Given the description of an element on the screen output the (x, y) to click on. 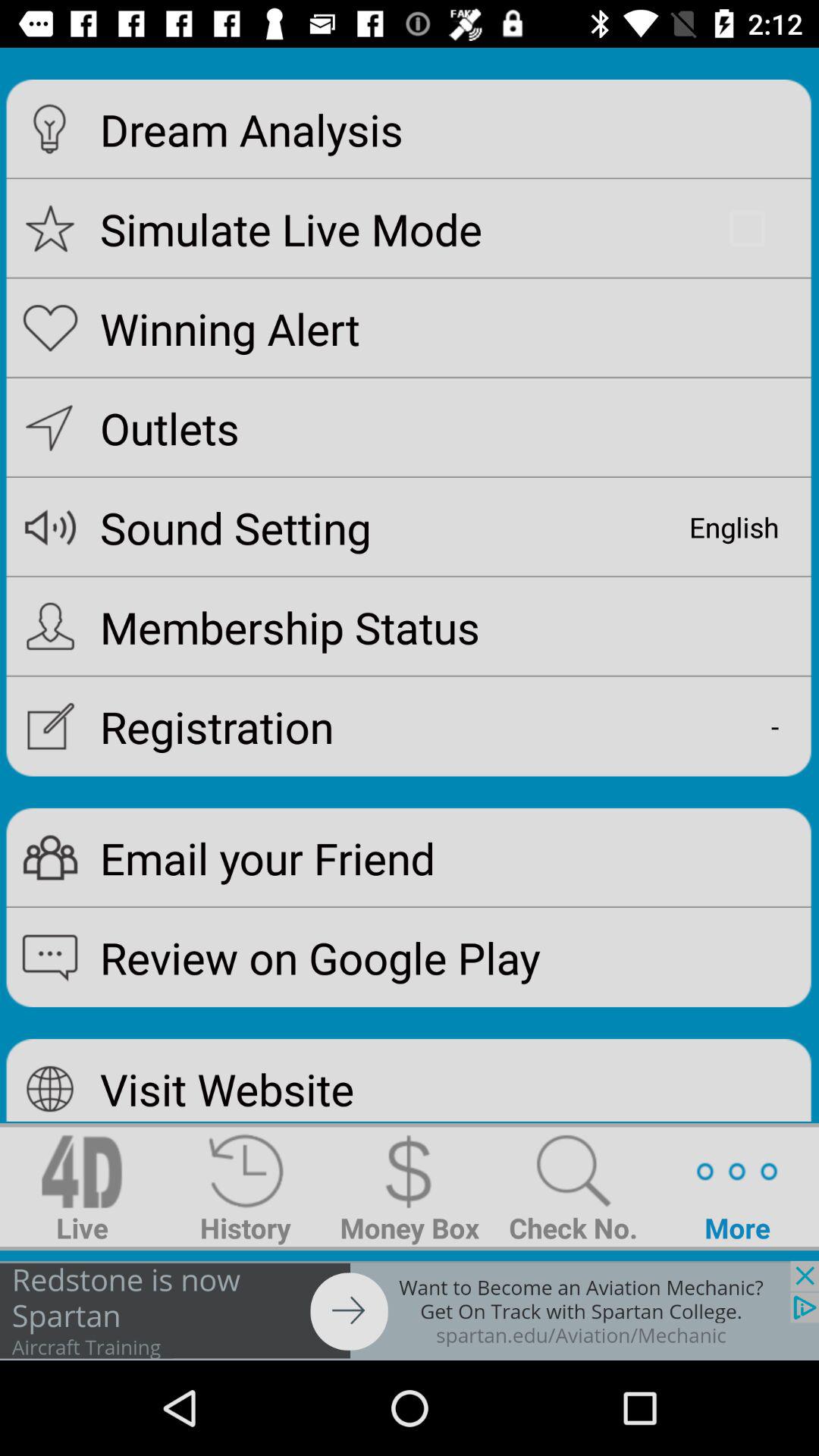
click on button more (737, 1186)
select the icon left to outlets (50, 427)
click on the symbol which is beside dream analysis (50, 128)
